Given the description of an element on the screen output the (x, y) to click on. 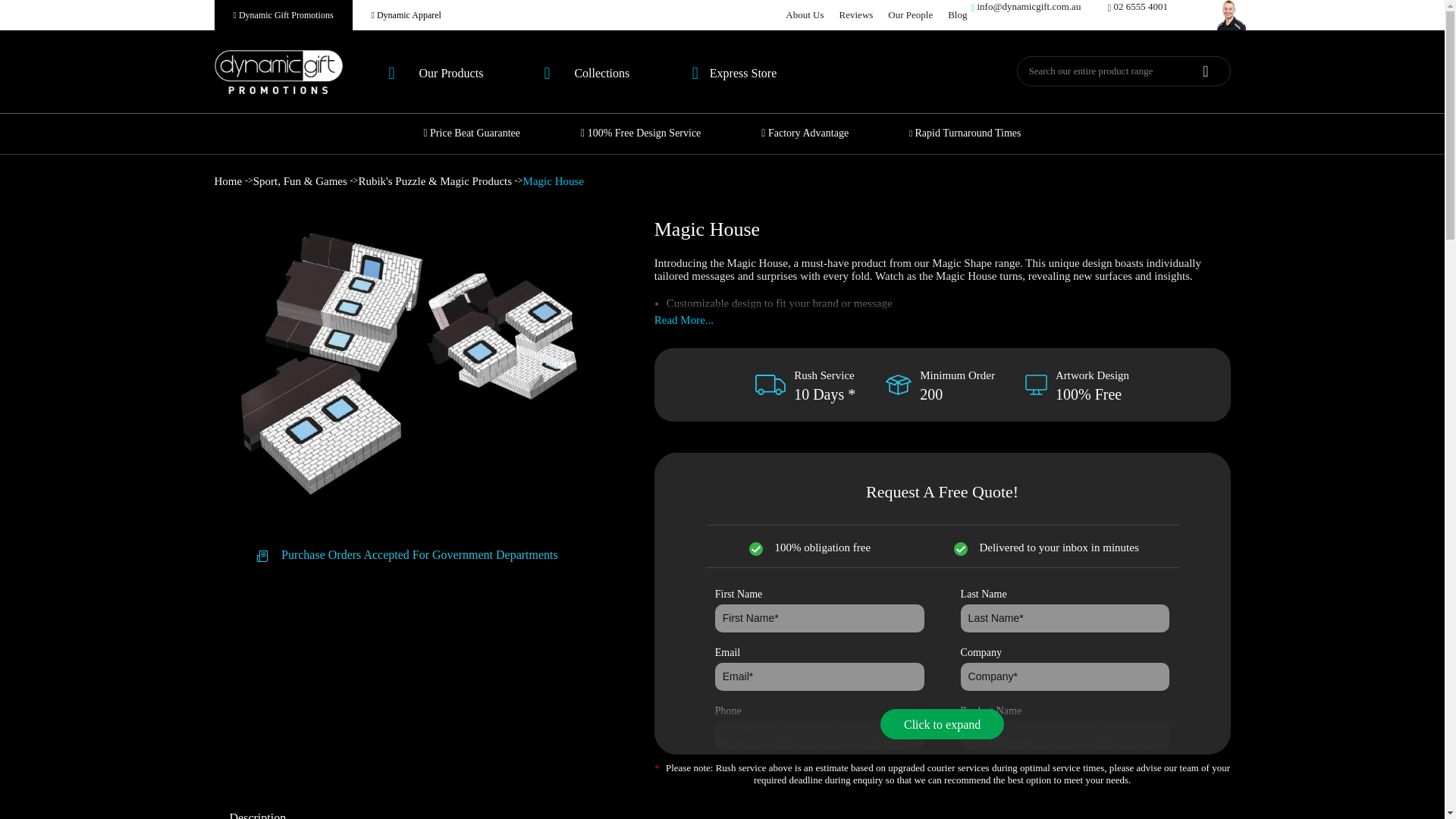
Dynamic Gift (278, 71)
Go to Home Page (229, 181)
Our People (910, 15)
Reviews (856, 15)
Magic House (1065, 735)
Our Products (434, 73)
 02 6555 4001 (1136, 15)
About Us (805, 15)
 Dynamic Apparel (406, 15)
Express Store (734, 73)
 Dynamic Gift Promotions (283, 15)
Collections (586, 73)
